Given the description of an element on the screen output the (x, y) to click on. 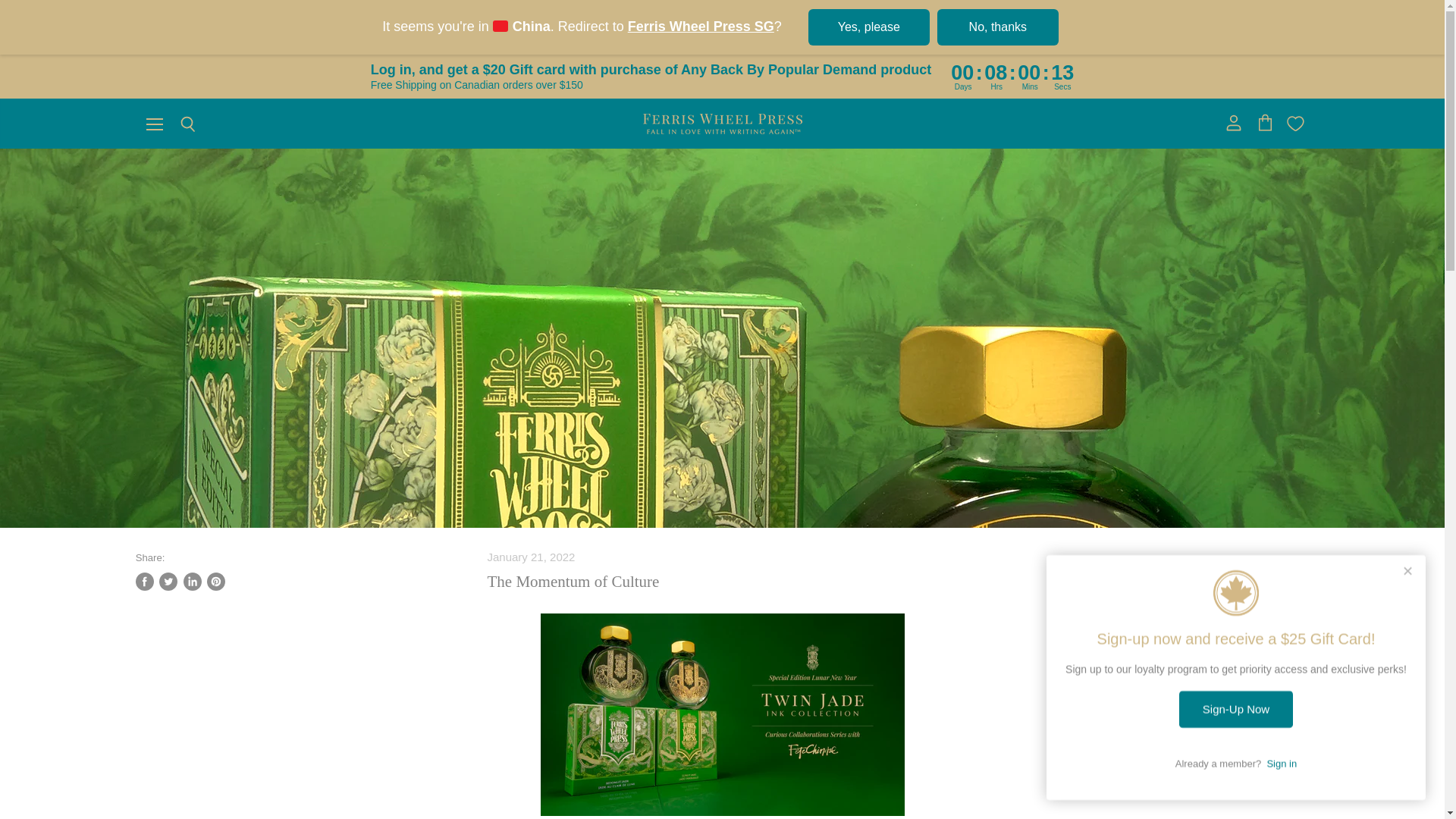
Search (186, 124)
Yes, please (869, 27)
Menu (154, 123)
Ferris Wheel Press SG (700, 26)
No, thanks (997, 27)
